Given the description of an element on the screen output the (x, y) to click on. 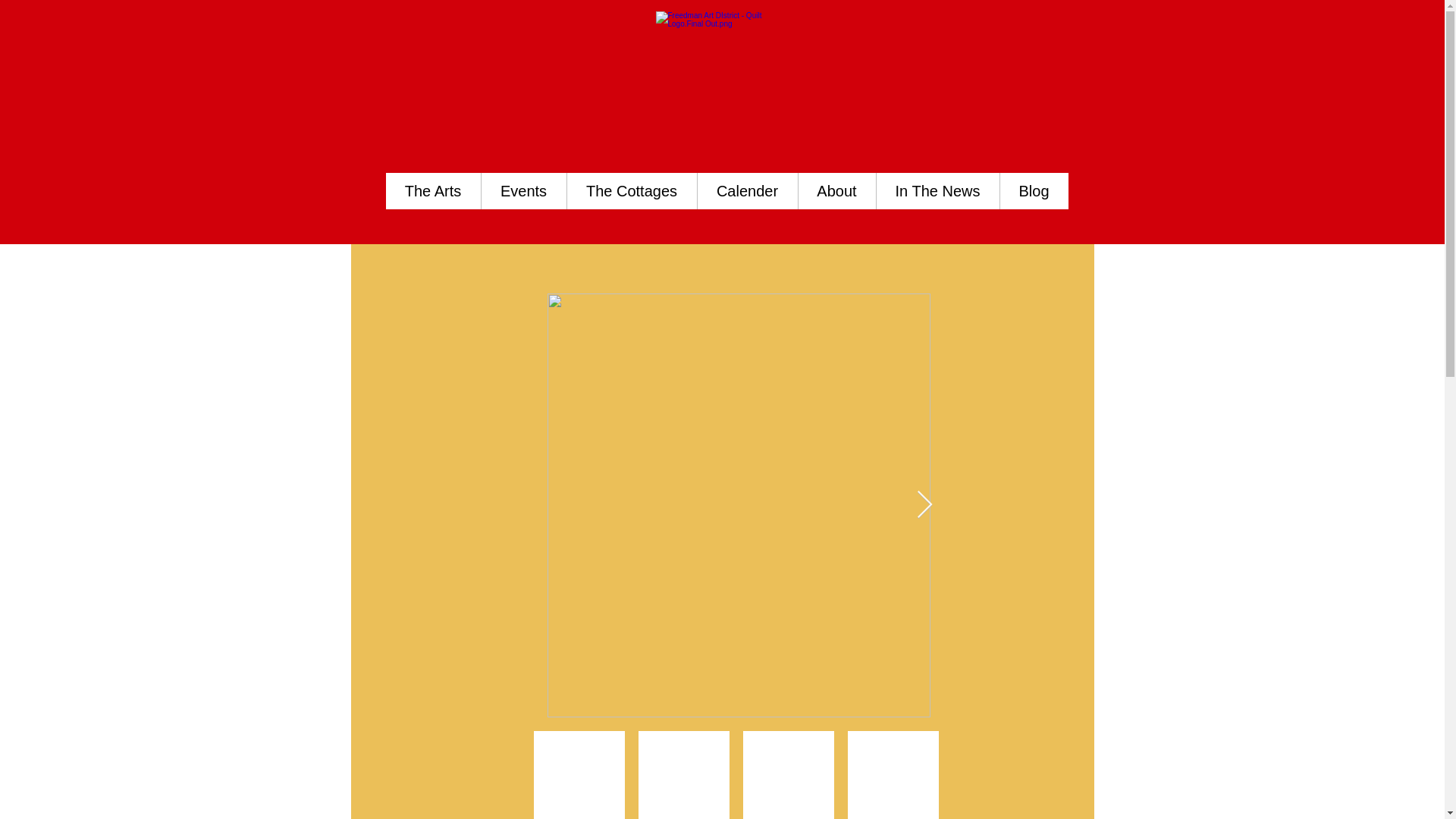
In The News (936, 190)
Blog (1033, 190)
Calender (745, 190)
The Cottages (630, 190)
About (836, 190)
The Arts (432, 190)
